Given the description of an element on the screen output the (x, y) to click on. 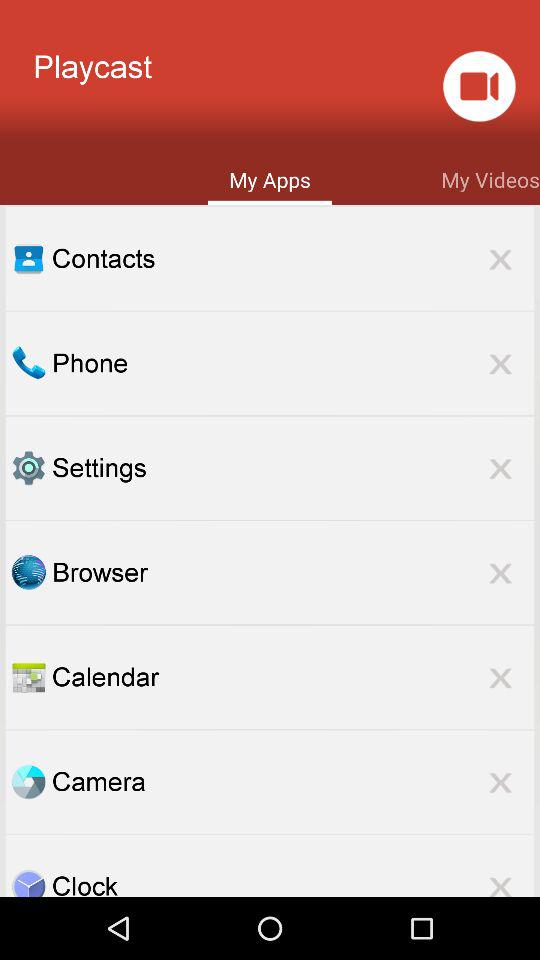
tap the phone item (293, 362)
